Given the description of an element on the screen output the (x, y) to click on. 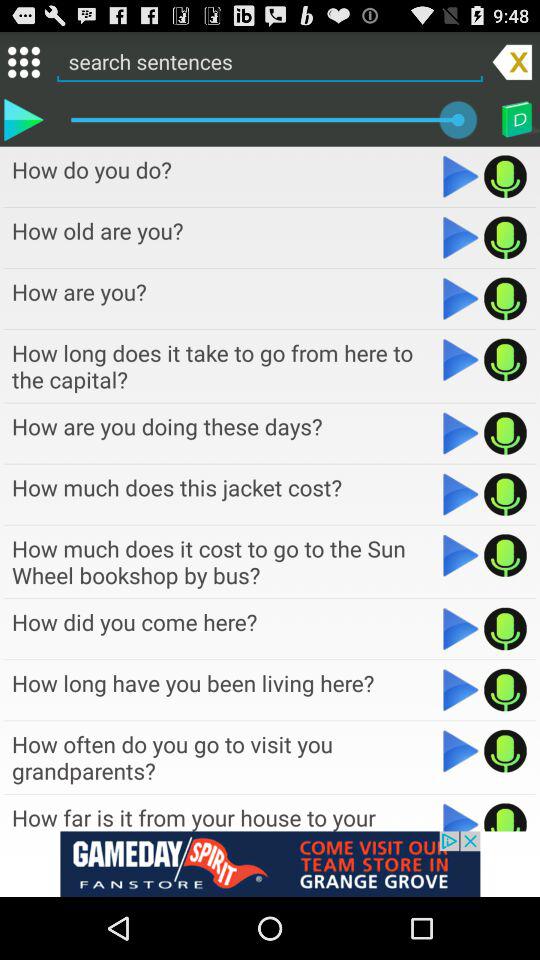
play option (460, 433)
